Given the description of an element on the screen output the (x, y) to click on. 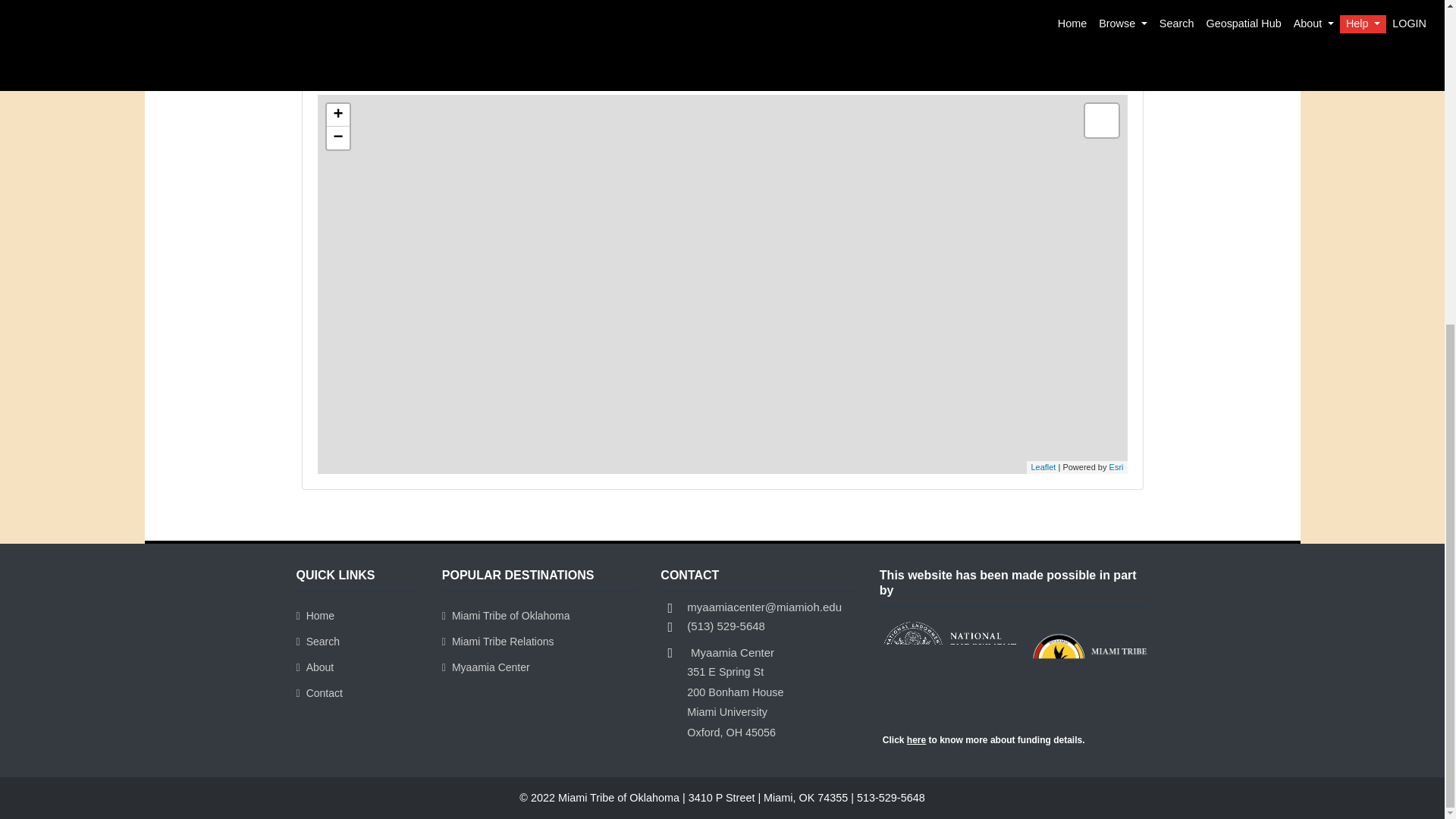
Layers (1101, 120)
click on the image to navigate to NEH website (949, 651)
Zoom out (337, 137)
Zoom in (337, 115)
A JS library for interactive maps (1042, 466)
click on the image to navigate to MTO website (1092, 673)
